Given the description of an element on the screen output the (x, y) to click on. 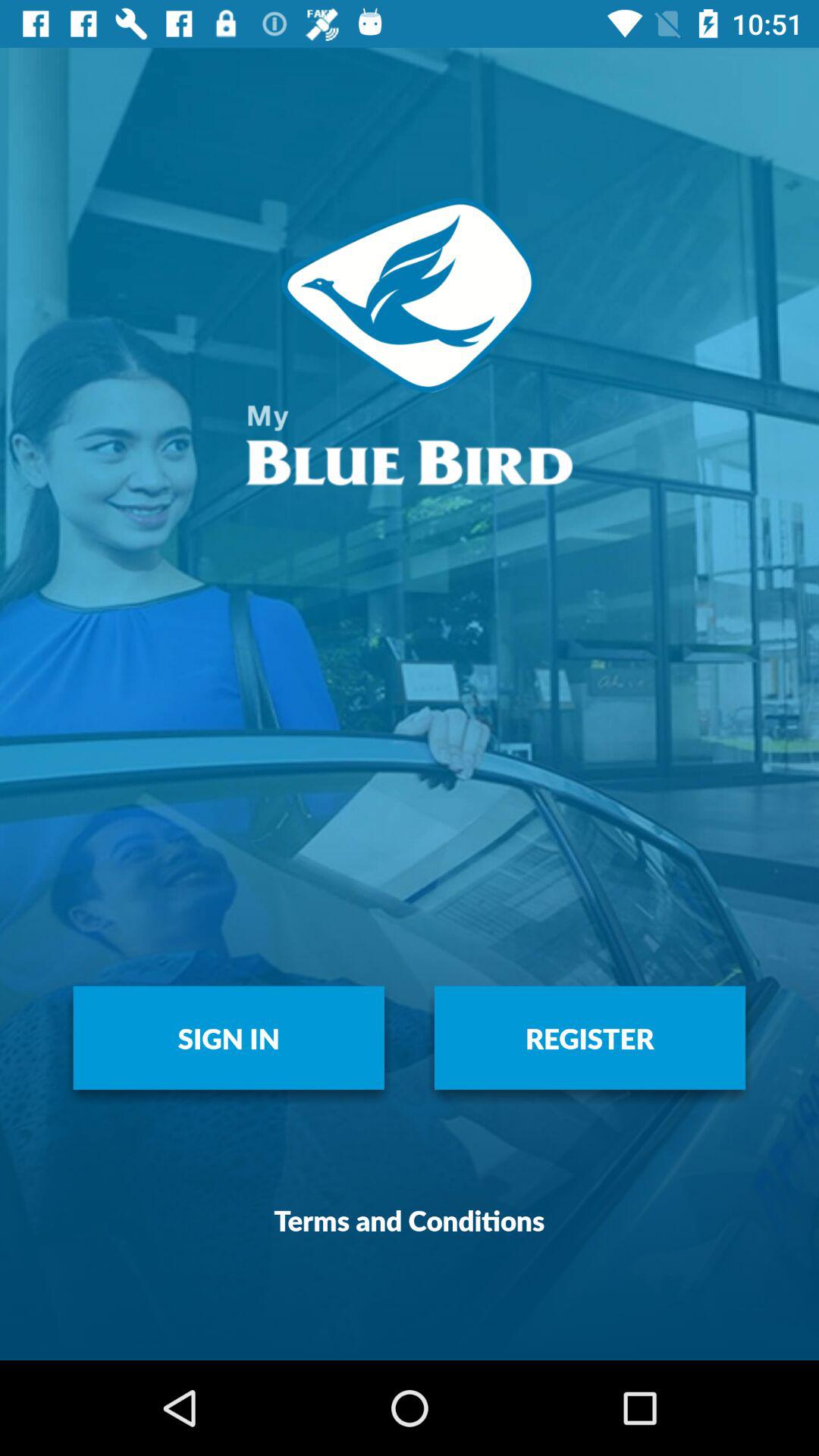
open the item above the terms and conditions item (228, 1037)
